Given the description of an element on the screen output the (x, y) to click on. 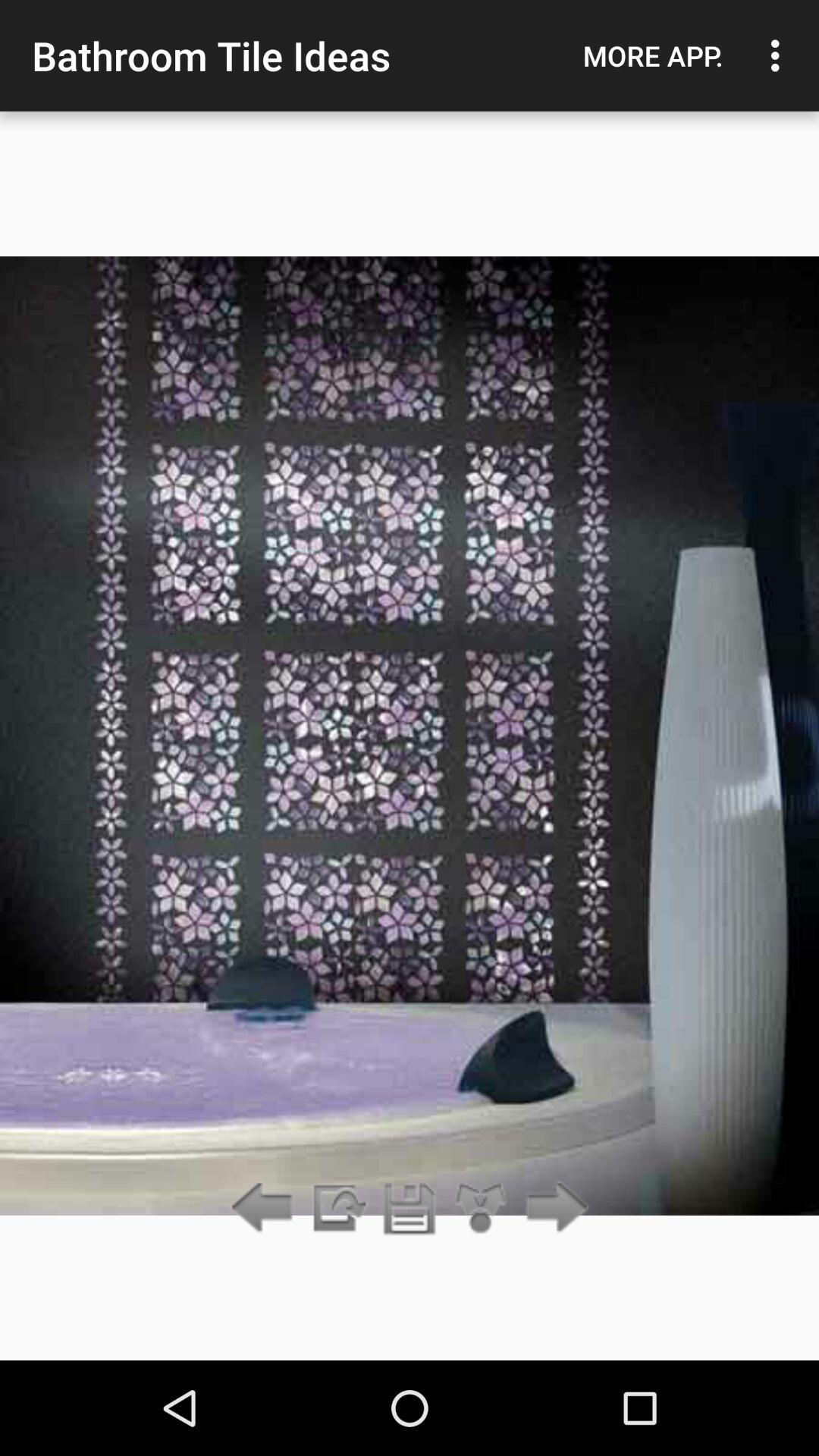
select option (480, 1208)
